Given the description of an element on the screen output the (x, y) to click on. 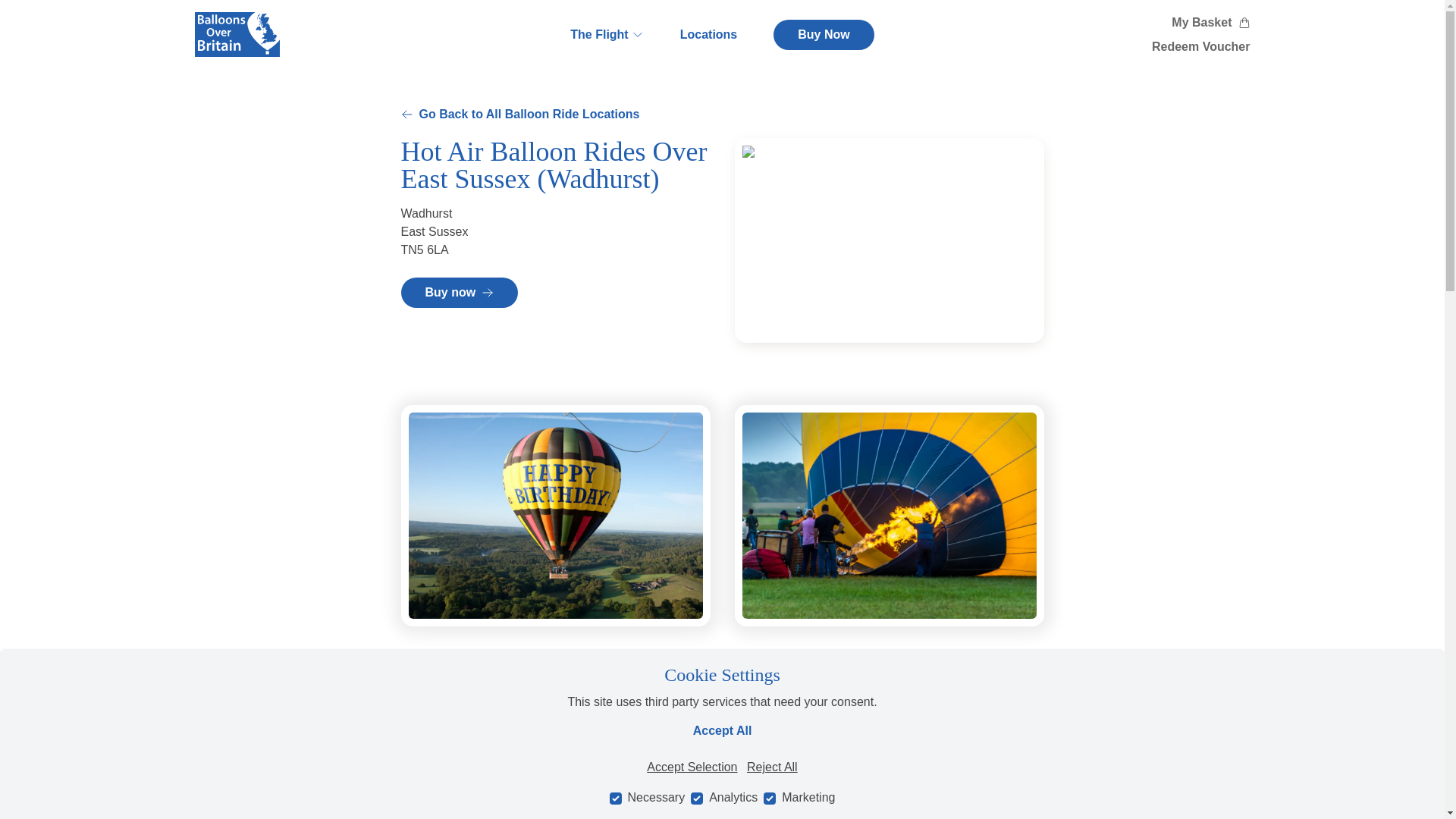
Accept Selection (691, 767)
Reject All (771, 767)
Analytics (696, 798)
Accept All (722, 730)
Buy now (459, 292)
Redeem Voucher (1200, 46)
My Basket (1209, 22)
Go Back to All Balloon Ride Locations (519, 114)
Marketing (769, 798)
Buy Now (823, 34)
